Given the description of an element on the screen output the (x, y) to click on. 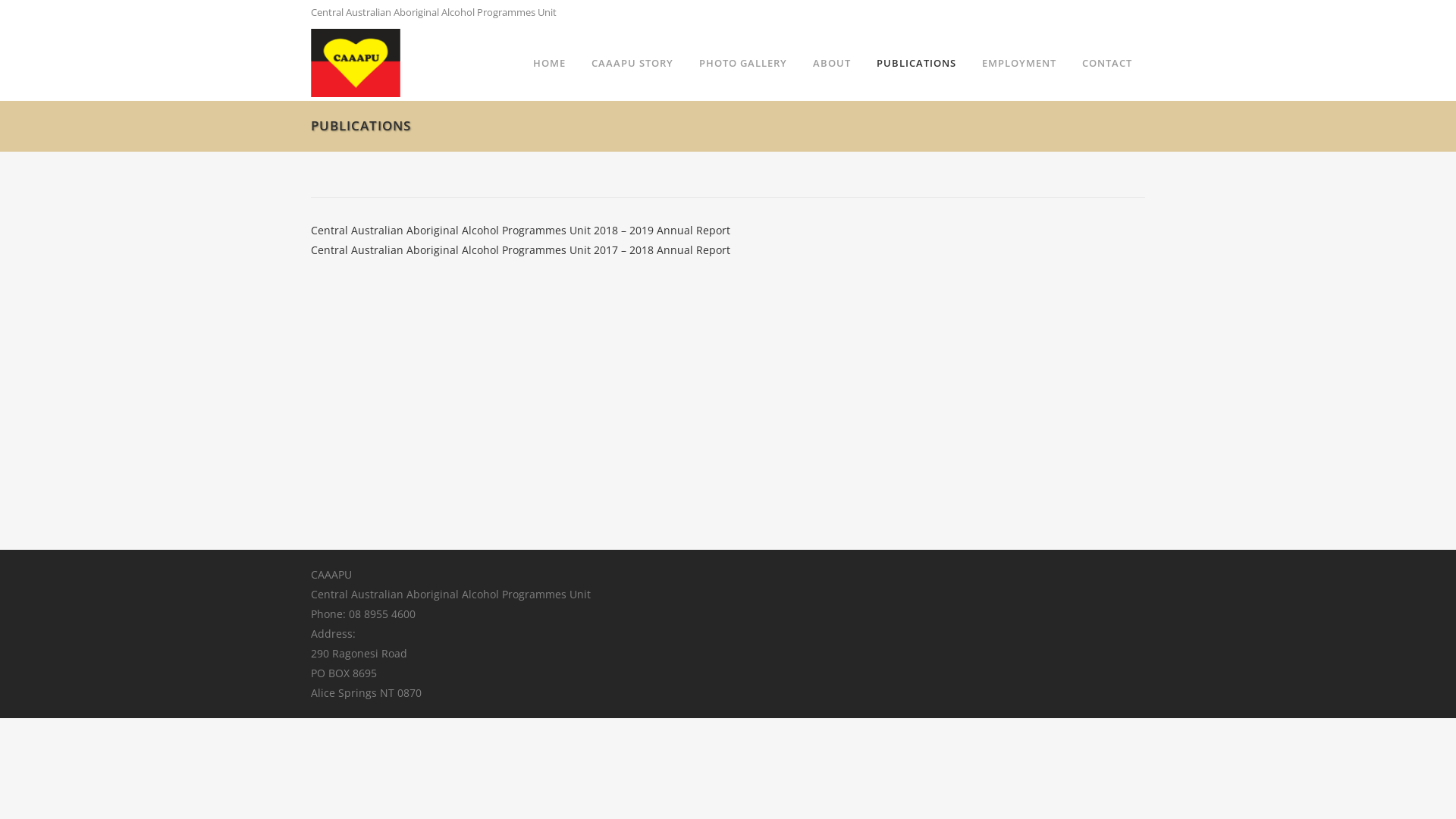
EMPLOYMENT Element type: text (1019, 62)
PHOTO GALLERY Element type: text (743, 62)
HOME Element type: text (549, 62)
ABOUT Element type: text (831, 62)
CONTACT Element type: text (1107, 62)
PUBLICATIONS Element type: text (916, 62)
CAAAPU STORY Element type: text (632, 62)
